Given the description of an element on the screen output the (x, y) to click on. 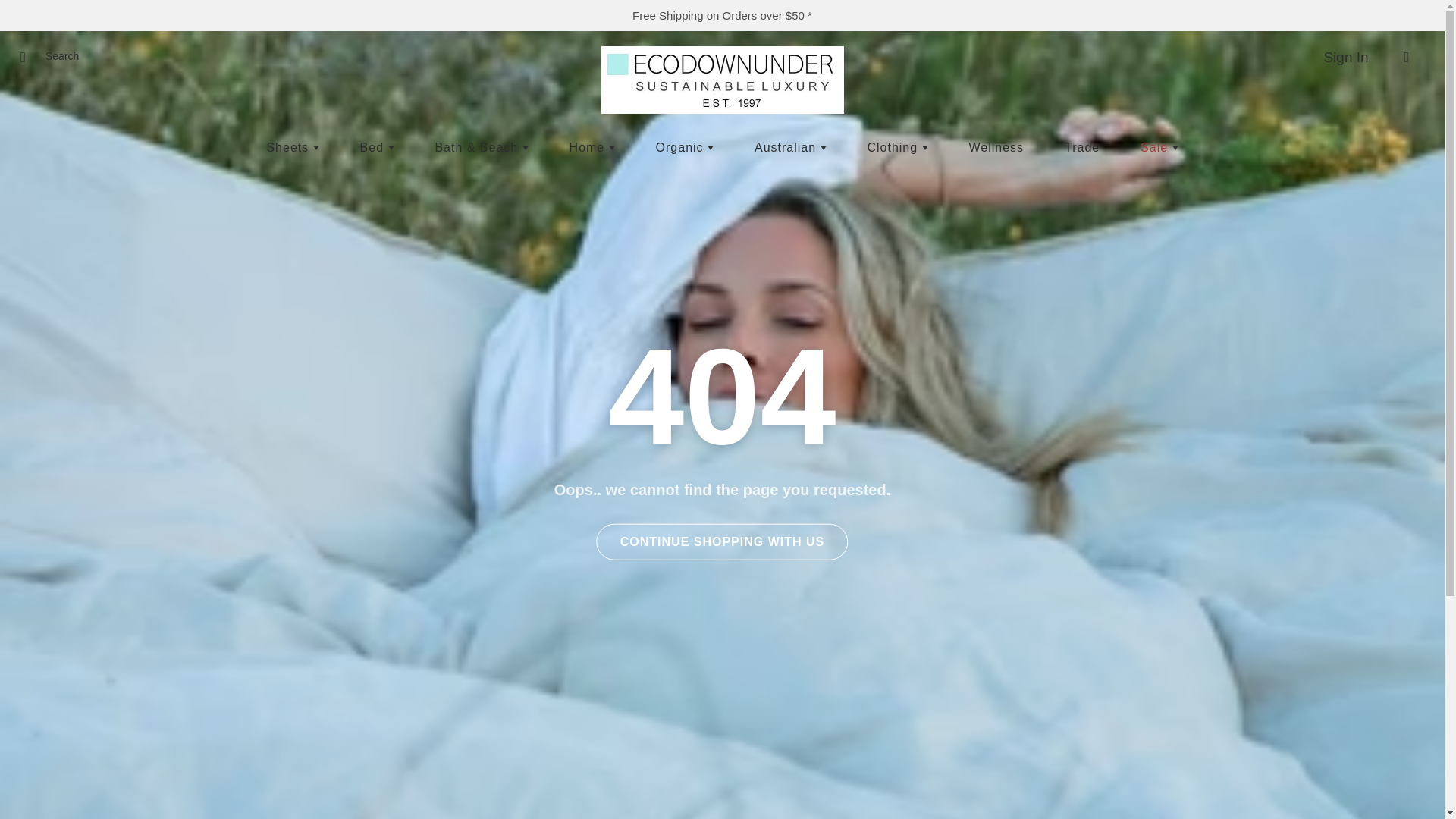
Sheets (292, 147)
You have 0 items in your cart (1406, 56)
Search (28, 56)
Sign In (1345, 56)
